Given the description of an element on the screen output the (x, y) to click on. 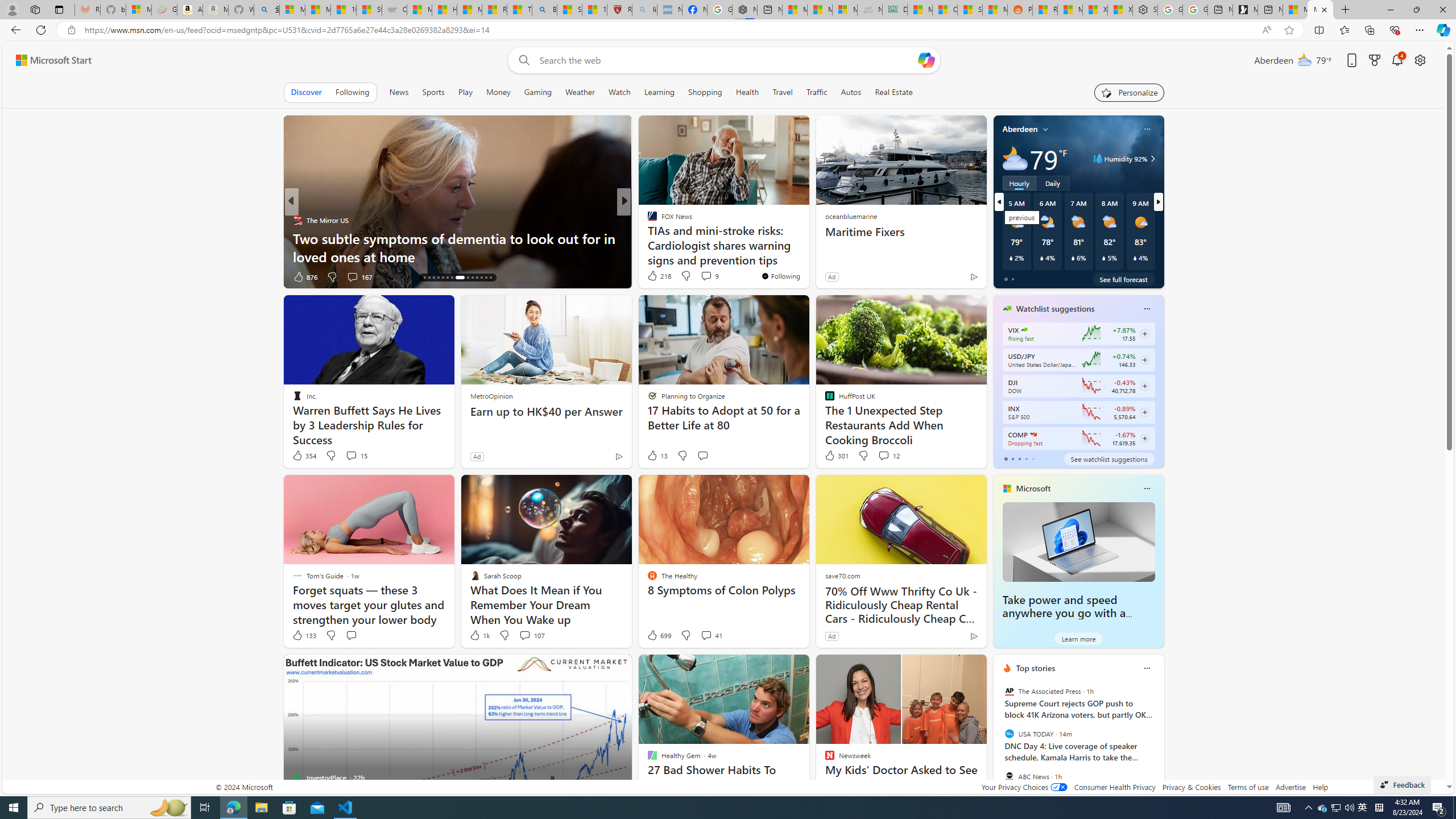
Class: weather-arrow-glyph (1152, 158)
NASDAQ (1032, 434)
AutomationID: tab-20 (446, 277)
301 Like (835, 455)
next (1158, 741)
Constative (647, 219)
Autos (851, 92)
